Given the description of an element on the screen output the (x, y) to click on. 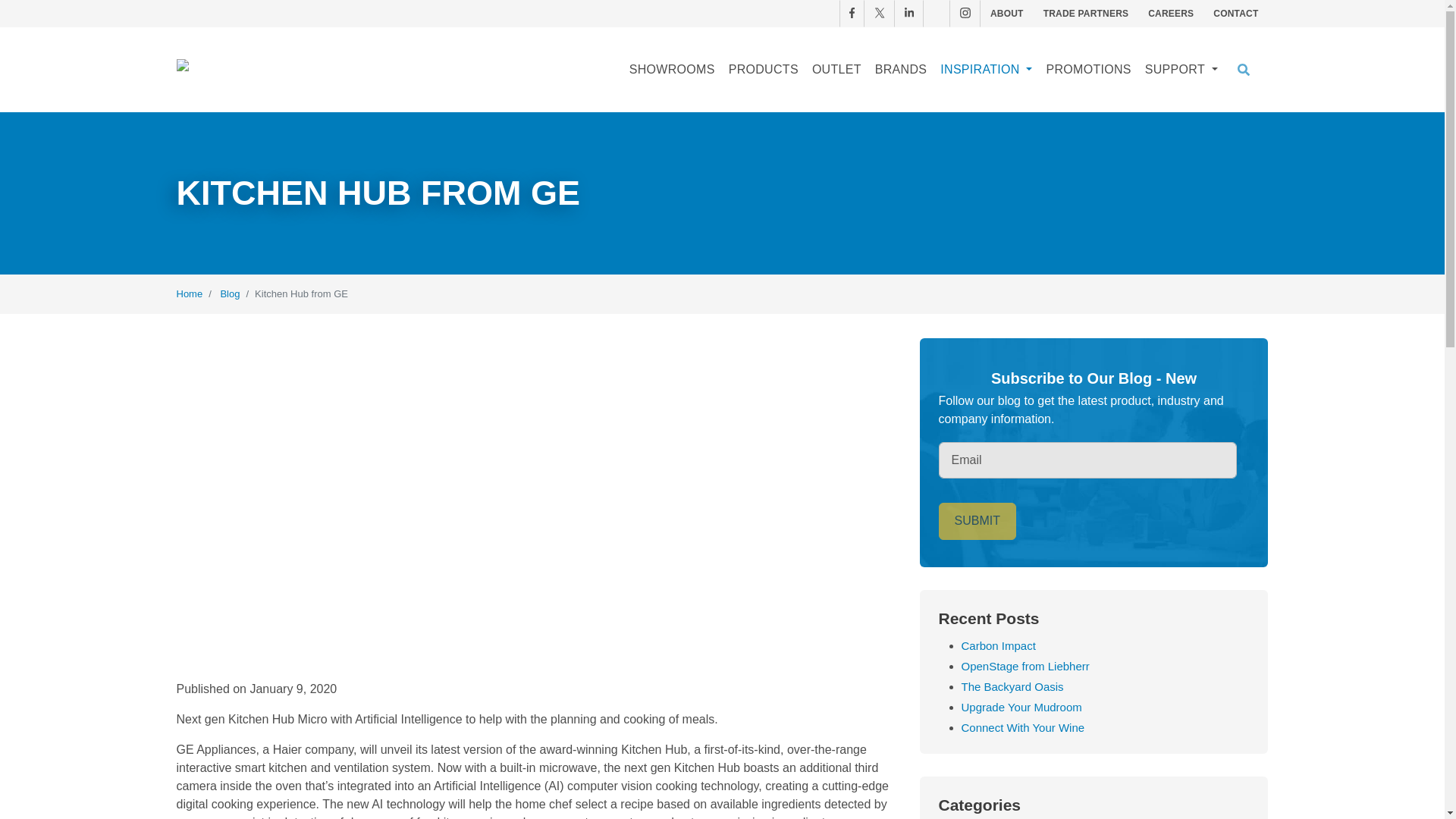
CONTACT (1236, 13)
CenWood Appliance logo (267, 69)
OUTLET (836, 69)
CAREERS (1171, 13)
TRADE PARTNERS (1085, 13)
Submit (977, 520)
PROMOTIONS (1088, 69)
SUPPORT (1181, 69)
SHOWROOMS (672, 69)
BRANDS (900, 69)
